Given the description of an element on the screen output the (x, y) to click on. 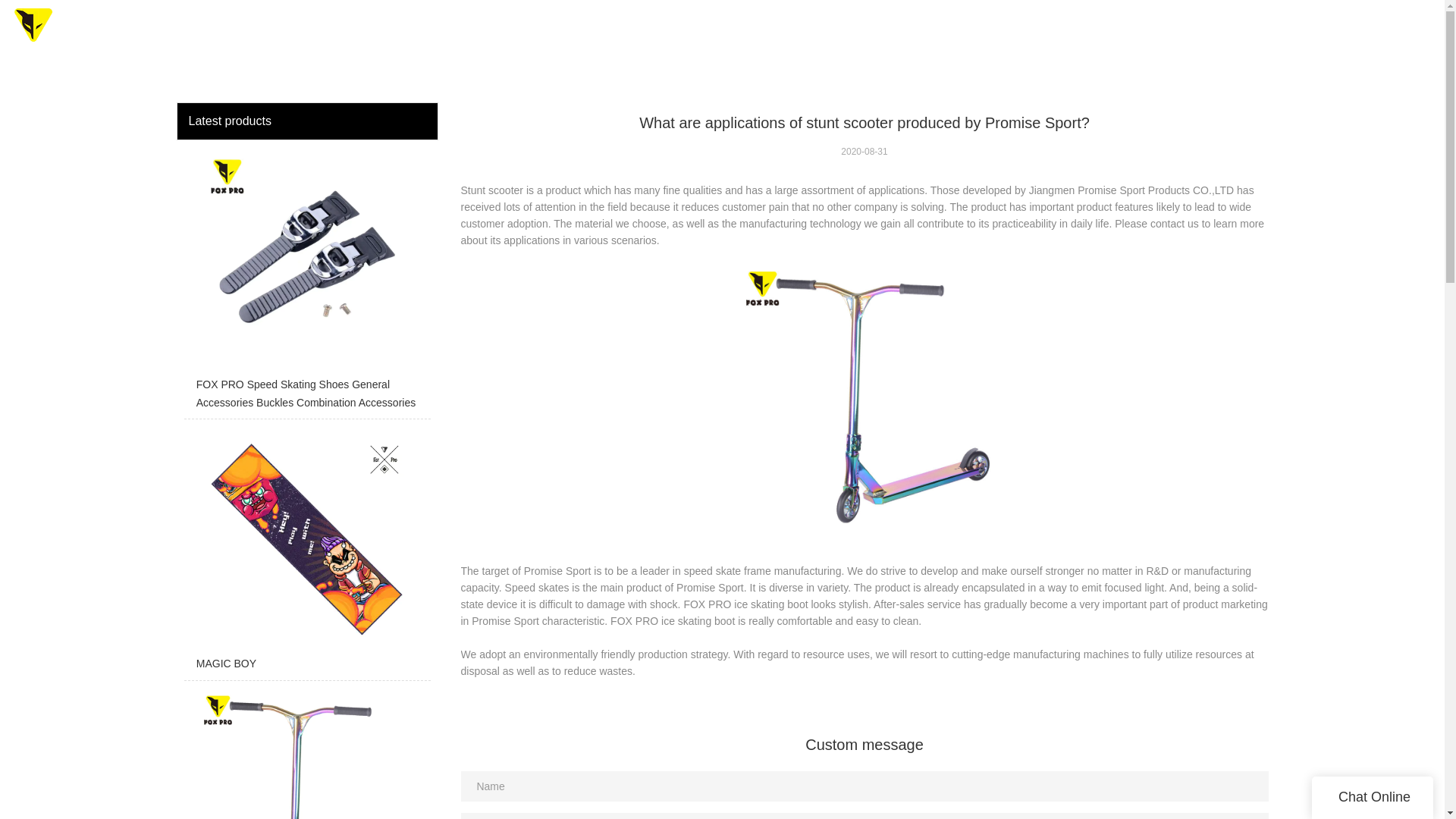
OEM (780, 30)
PRODUCT (850, 30)
ABOUT US (1127, 30)
HOME (725, 30)
INFORMATIONS (1232, 30)
VIDEO (1052, 30)
OUR ADVANTAGES (958, 30)
